Given the description of an element on the screen output the (x, y) to click on. 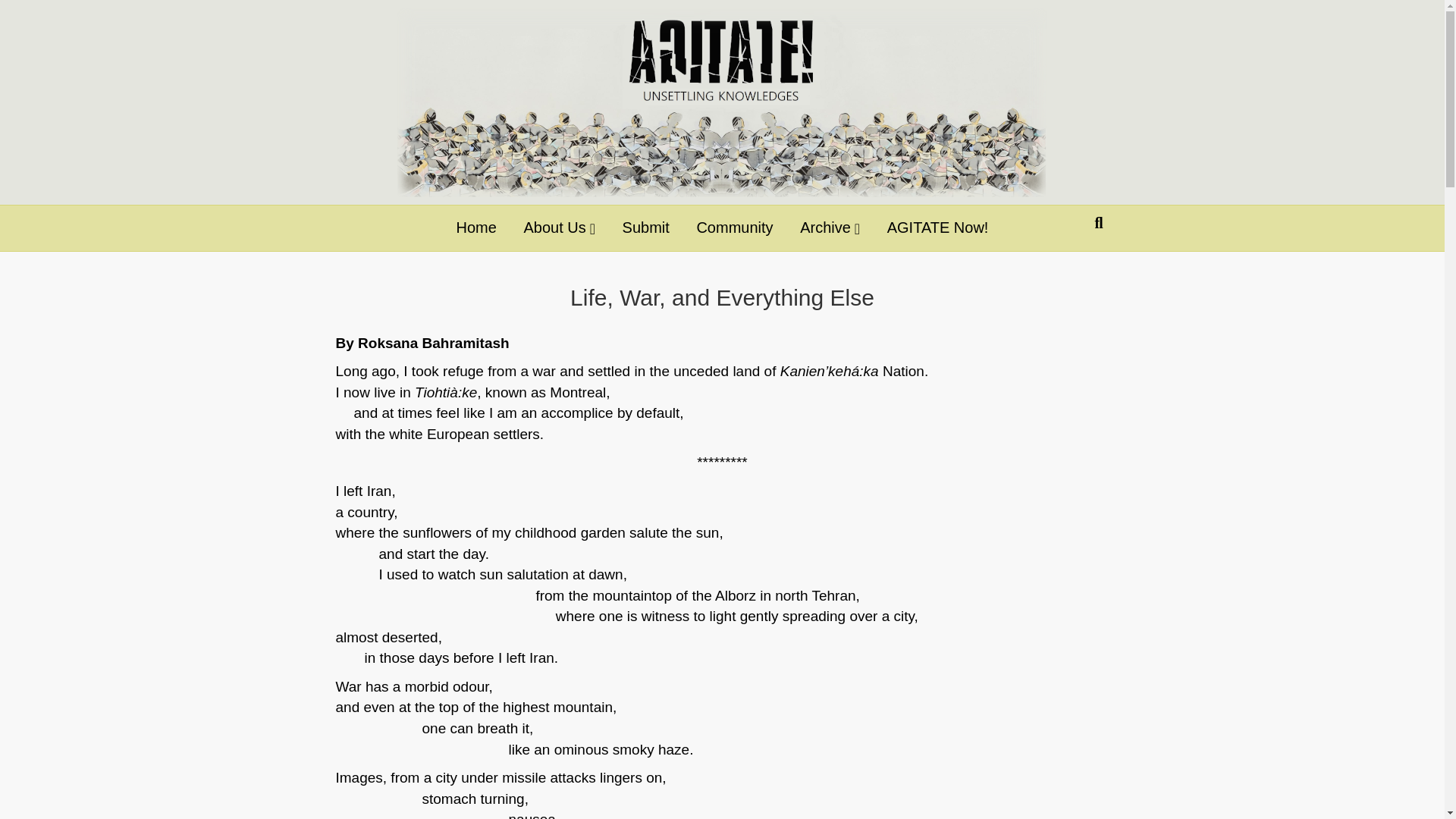
Archive (829, 227)
Submit (646, 227)
About Us (559, 227)
Home (476, 227)
AGITATE Now! (938, 227)
Community (734, 227)
